Given the description of an element on the screen output the (x, y) to click on. 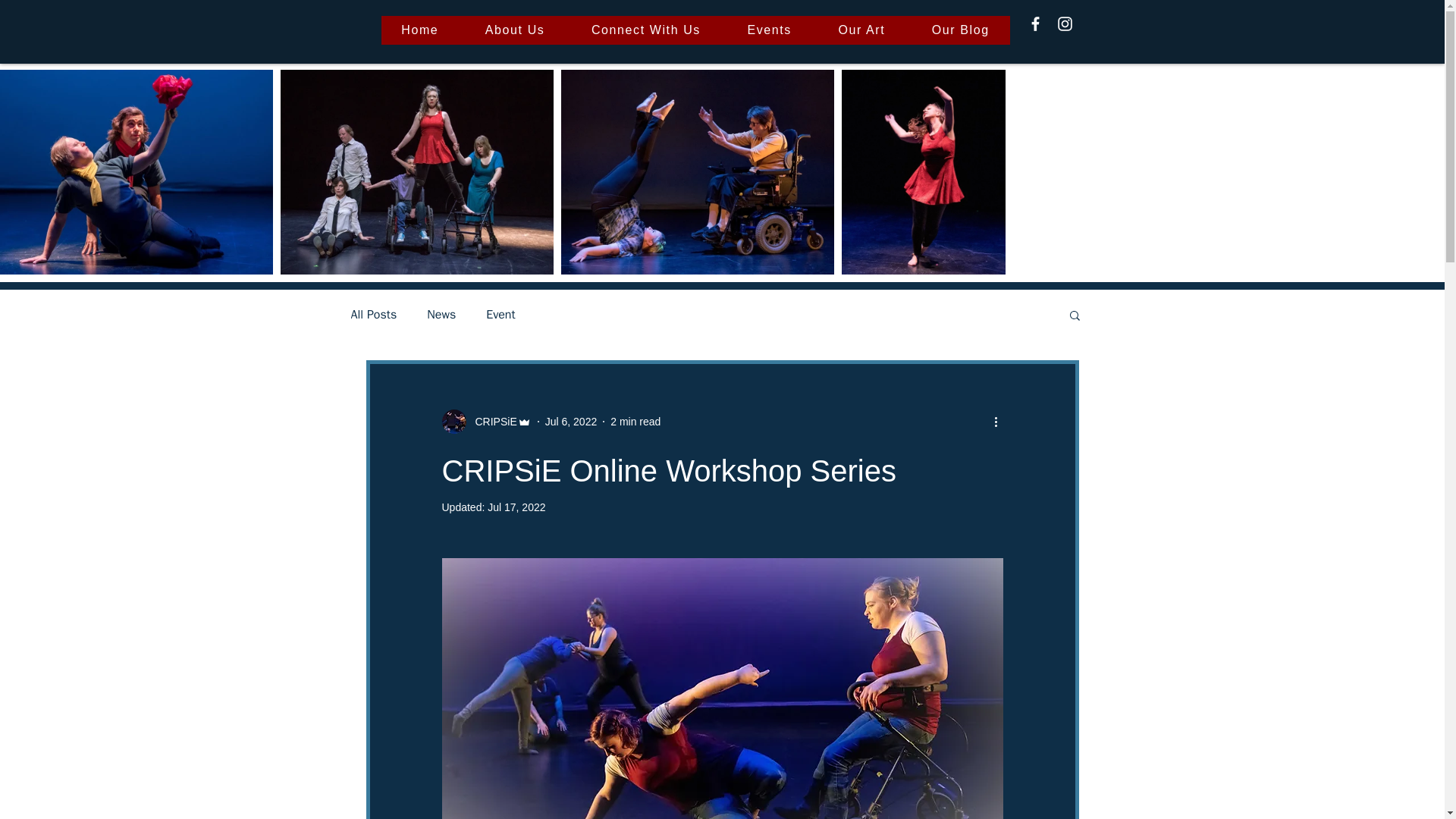
Events (769, 30)
All Posts (373, 314)
2 min read (635, 421)
Event (500, 314)
Our Art (861, 30)
Jul 6, 2022 (570, 421)
News (440, 314)
About Us (514, 30)
Home (419, 30)
Our Blog (960, 30)
Connect With Us (645, 30)
CRIPSiE (486, 421)
CRIPSiE (490, 421)
Jul 17, 2022 (515, 507)
